Given the description of an element on the screen output the (x, y) to click on. 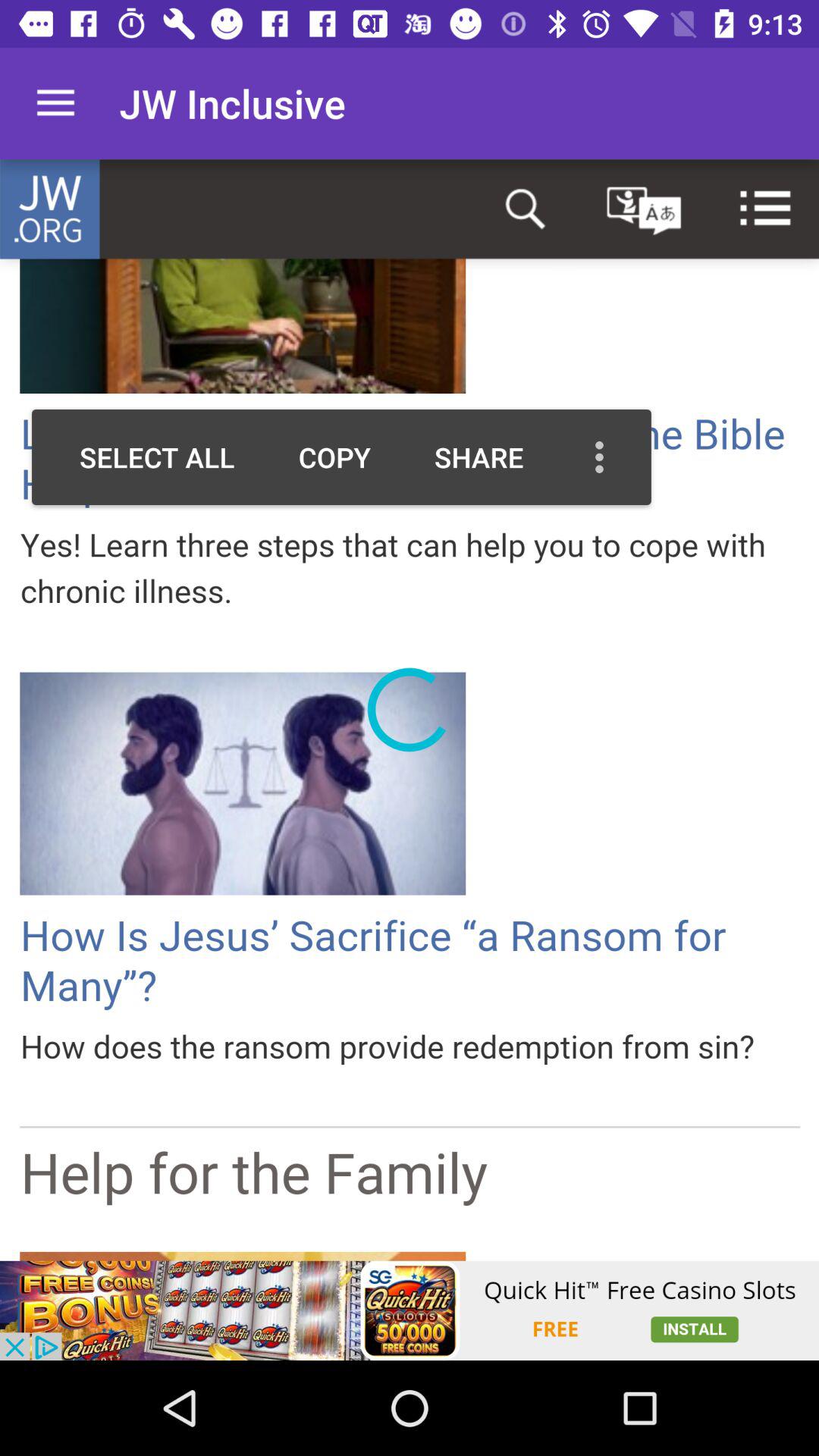
open advertisement (409, 1310)
